Given the description of an element on the screen output the (x, y) to click on. 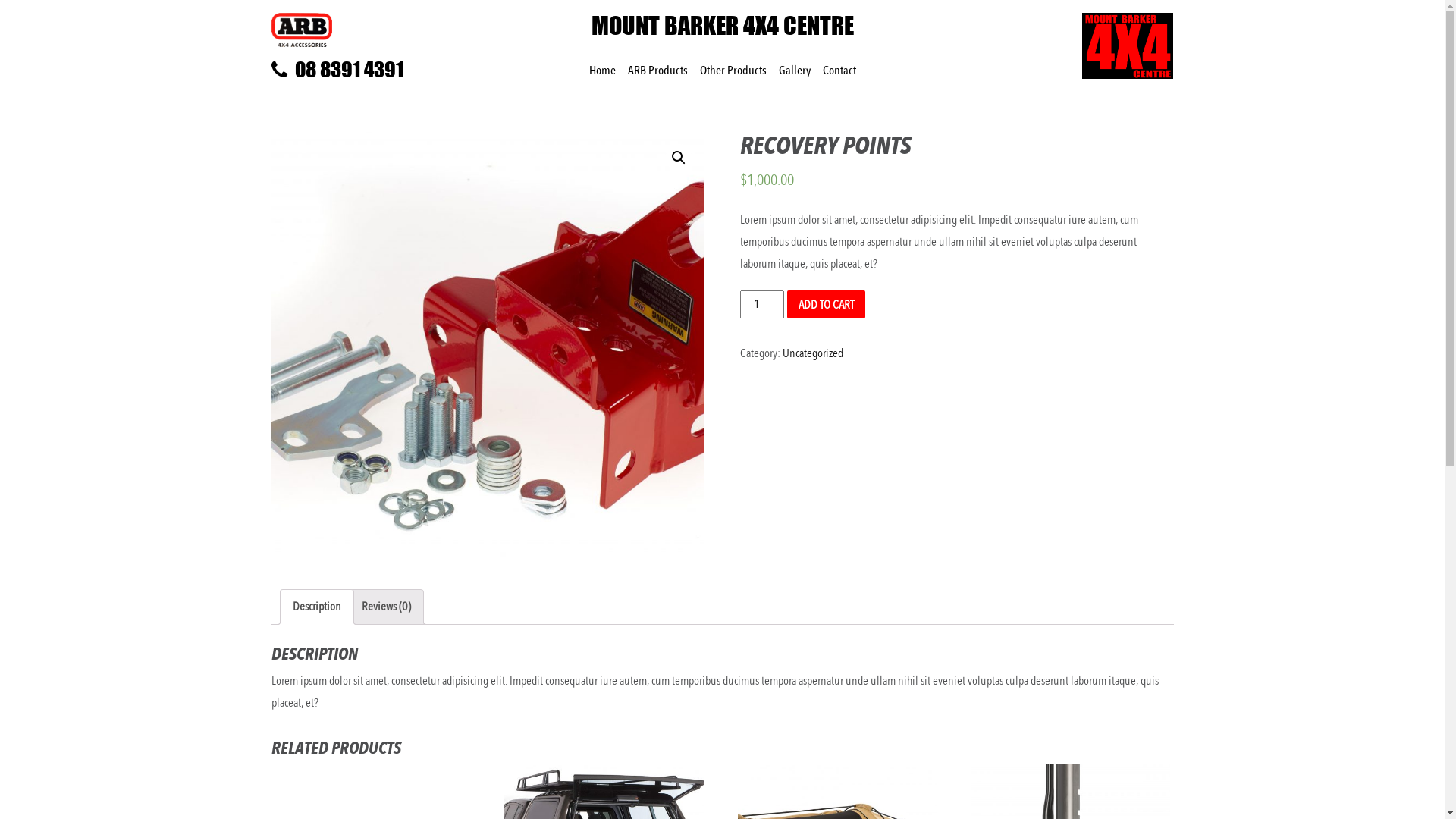
Other Products Element type: text (732, 70)
ARB Products Element type: text (657, 70)
ADD TO CART Element type: text (826, 304)
Recovery Points Element type: hover (487, 347)
Uncategorized Element type: text (812, 353)
Gallery Element type: text (793, 70)
Reviews (0) Element type: text (385, 606)
08 8391 4391 Element type: text (375, 69)
Description Element type: text (316, 606)
Contact Element type: text (838, 70)
Home Element type: text (601, 70)
Qty Element type: hover (762, 304)
